Given the description of an element on the screen output the (x, y) to click on. 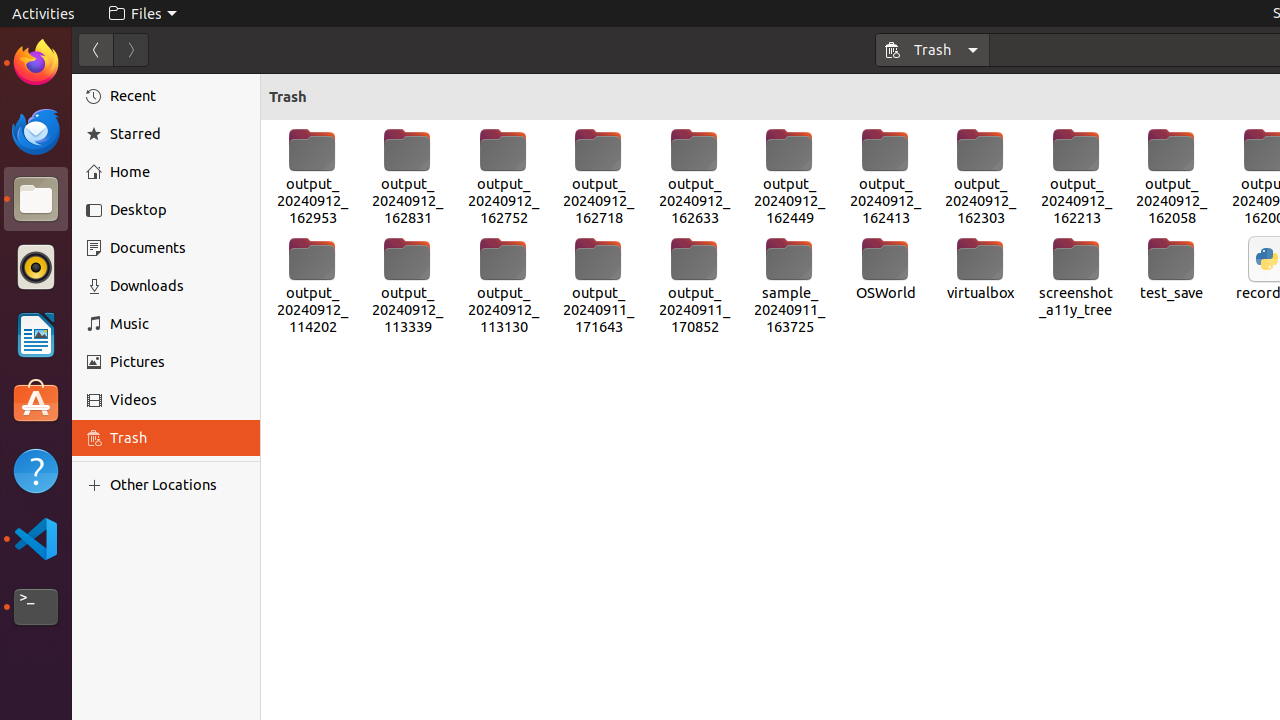
Terminal Element type: push-button (36, 607)
output_20240912_162303 Element type: canvas (981, 177)
output_20240912_162213 Element type: canvas (1076, 177)
